Given the description of an element on the screen output the (x, y) to click on. 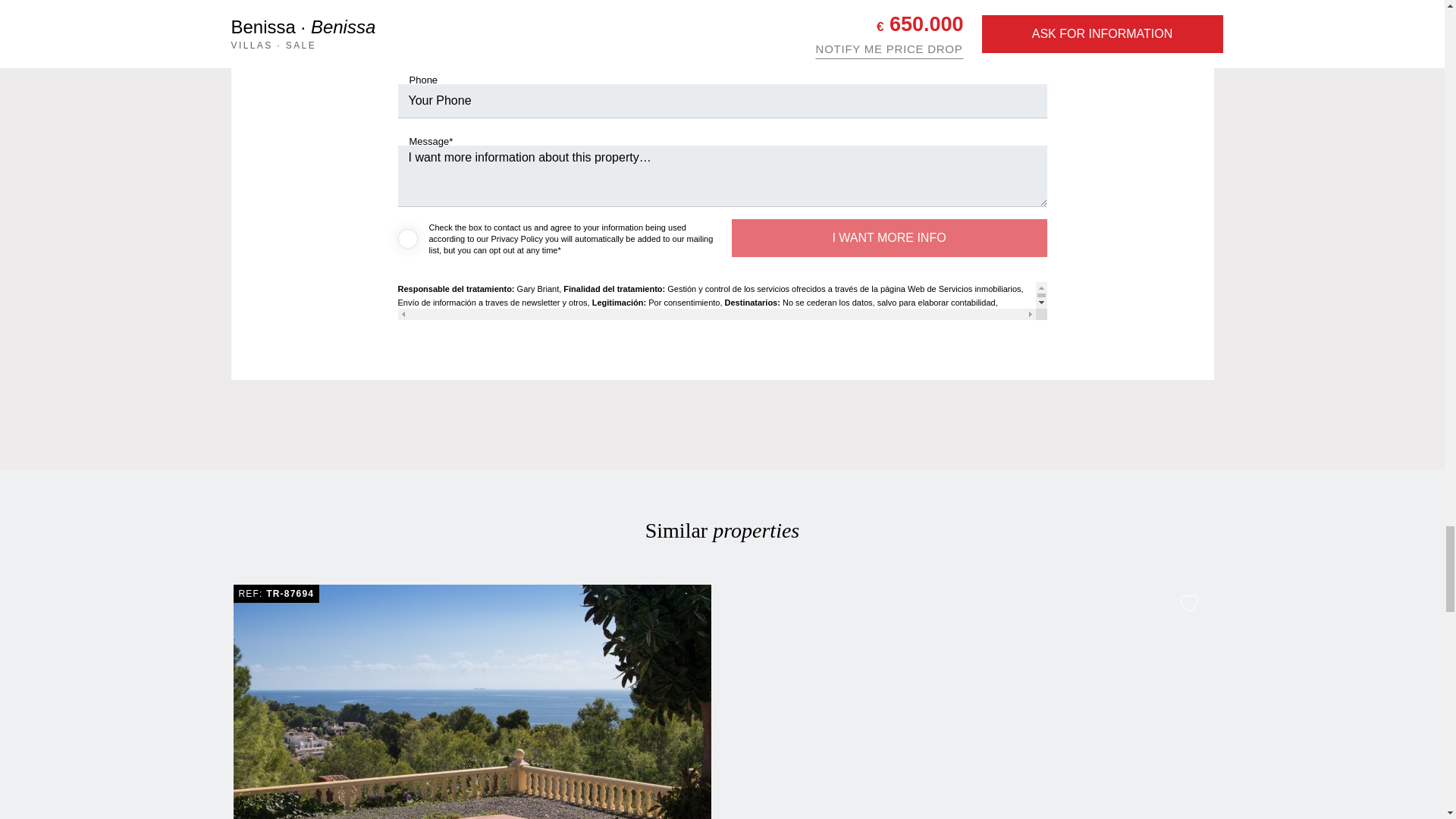
I want more info (888, 238)
Add to Favorites (1189, 602)
Villas - Sale - Benissa - Benissa (471, 701)
